Given the description of an element on the screen output the (x, y) to click on. 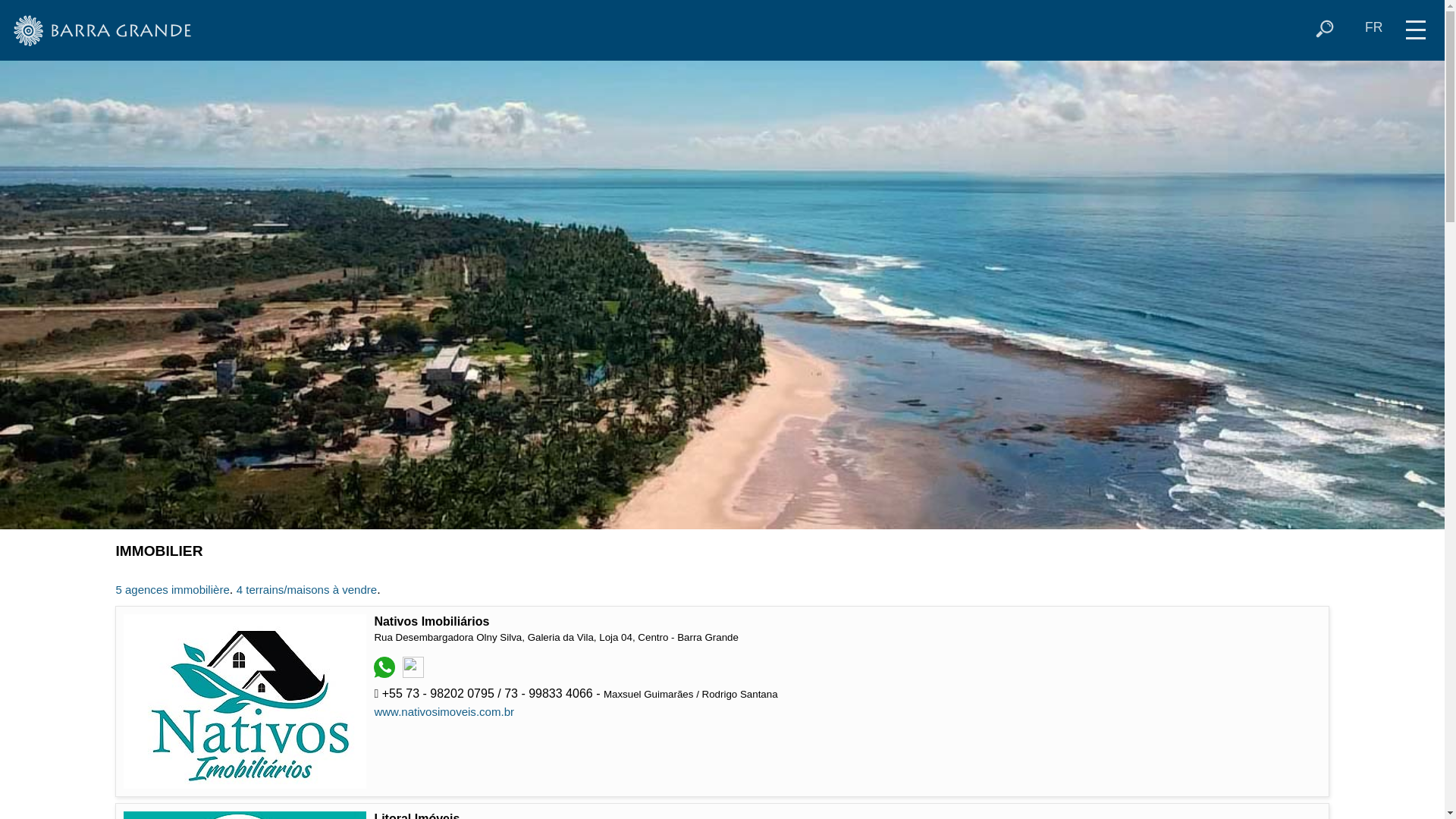
menu Element type: hover (1415, 24)
rechercher Element type: hover (1324, 28)
home Element type: hover (104, 30)
www.nativosimoveis.com.br Element type: text (443, 711)
email Element type: hover (414, 673)
73 - 98202 0795 Element type: hover (385, 673)
